Given the description of an element on the screen output the (x, y) to click on. 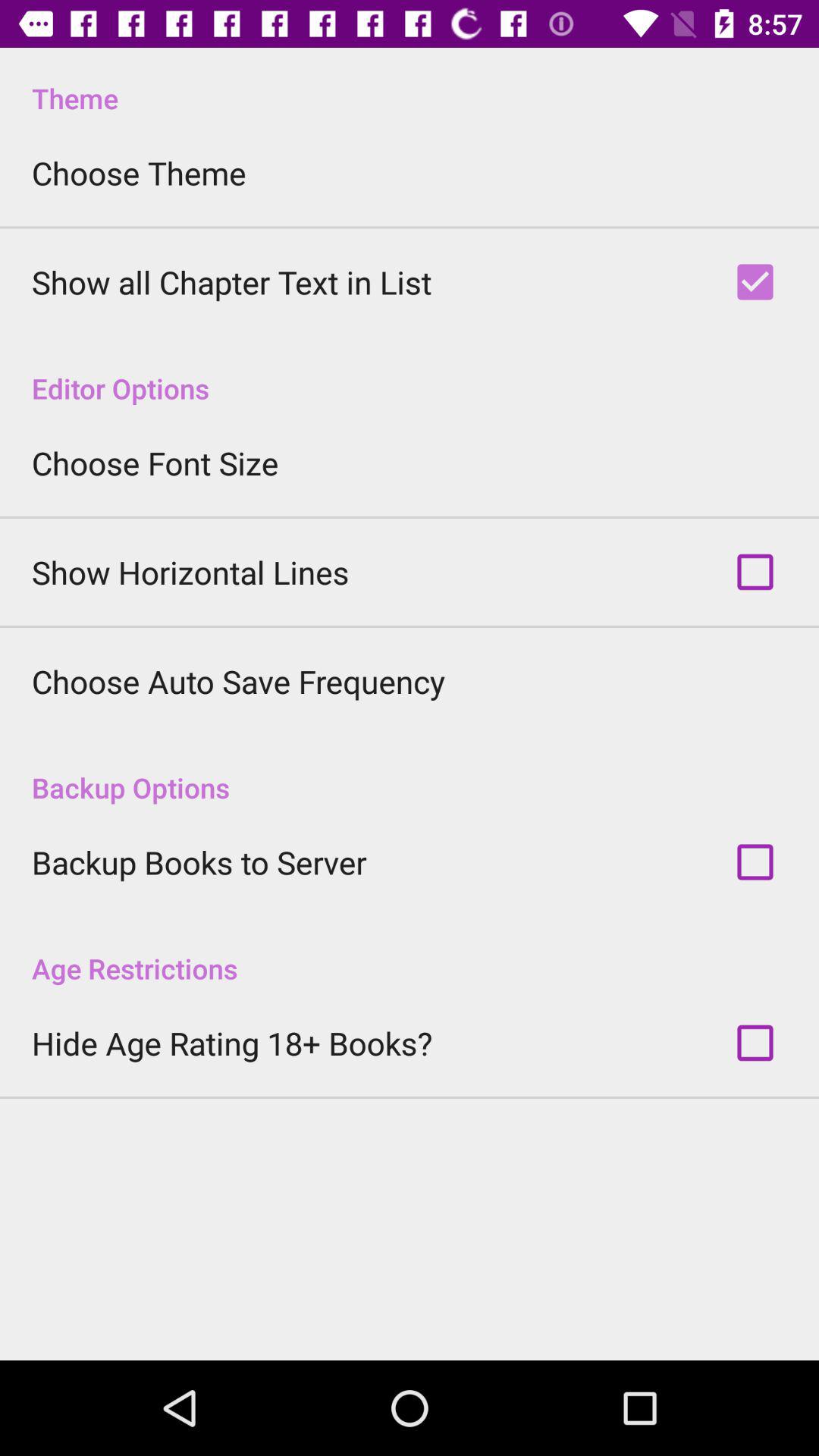
flip until the choose font size app (154, 462)
